Given the description of an element on the screen output the (x, y) to click on. 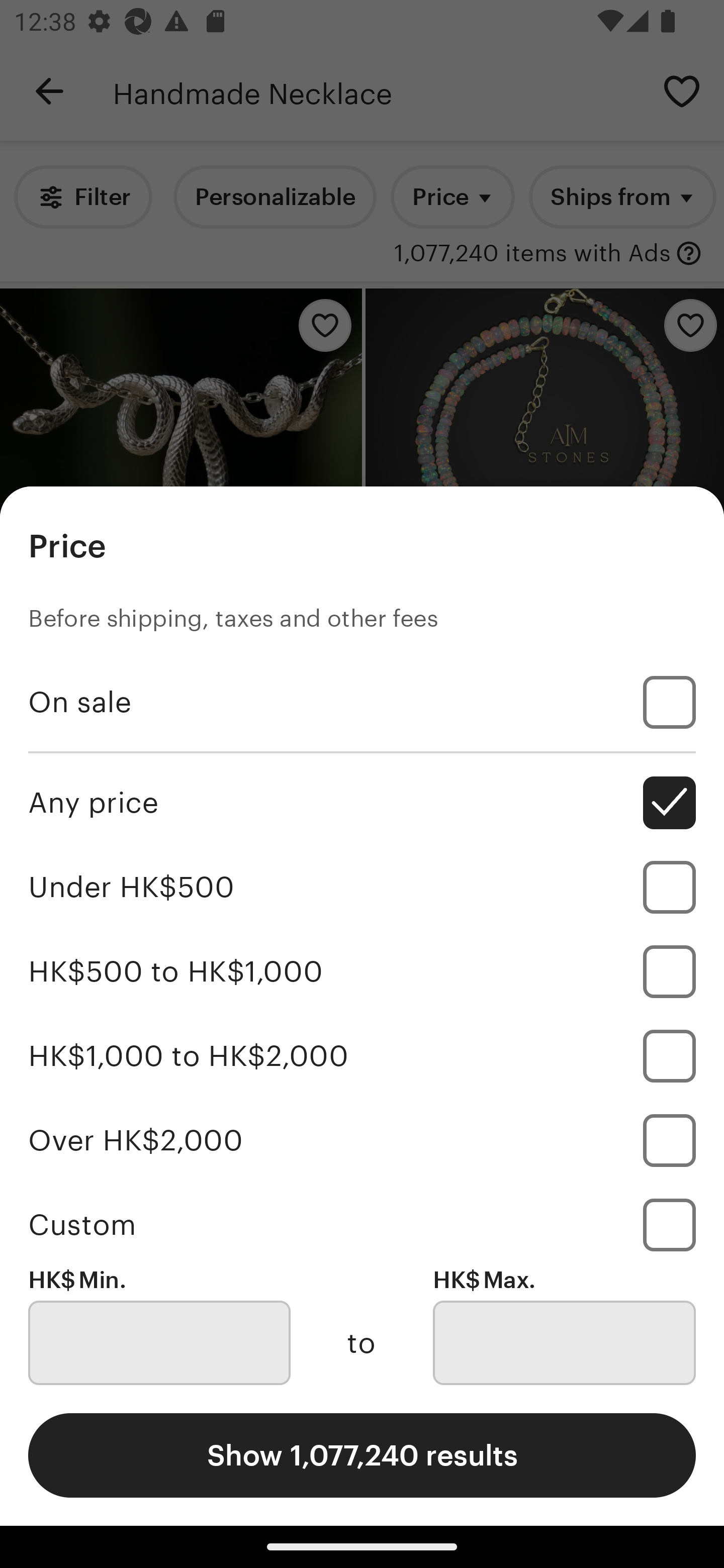
On sale (362, 702)
Any price (362, 802)
Under HK$500 (362, 887)
HK$500 to HK$1,000 (362, 970)
HK$1,000 to HK$2,000 (362, 1054)
Over HK$2,000 (362, 1139)
Custom (362, 1224)
Show 1,077,240 results (361, 1454)
